Given the description of an element on the screen output the (x, y) to click on. 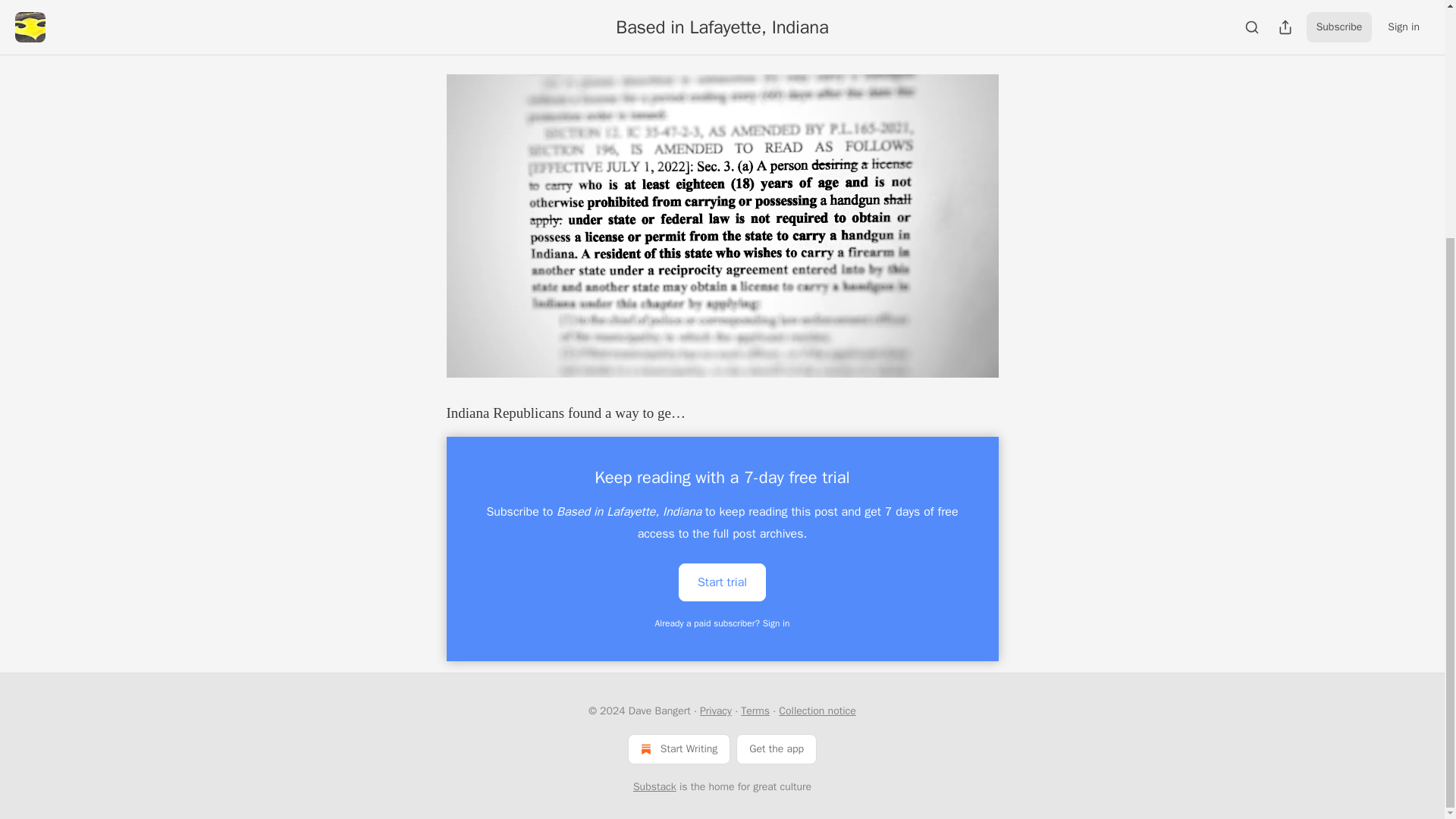
Privacy (716, 710)
Collection notice (817, 710)
Start Writing (678, 748)
Start trial (721, 581)
Terms (755, 710)
Start trial (721, 582)
Get the app (776, 748)
Already a paid subscriber? Sign in (722, 623)
Substack (655, 786)
